Given the description of an element on the screen output the (x, y) to click on. 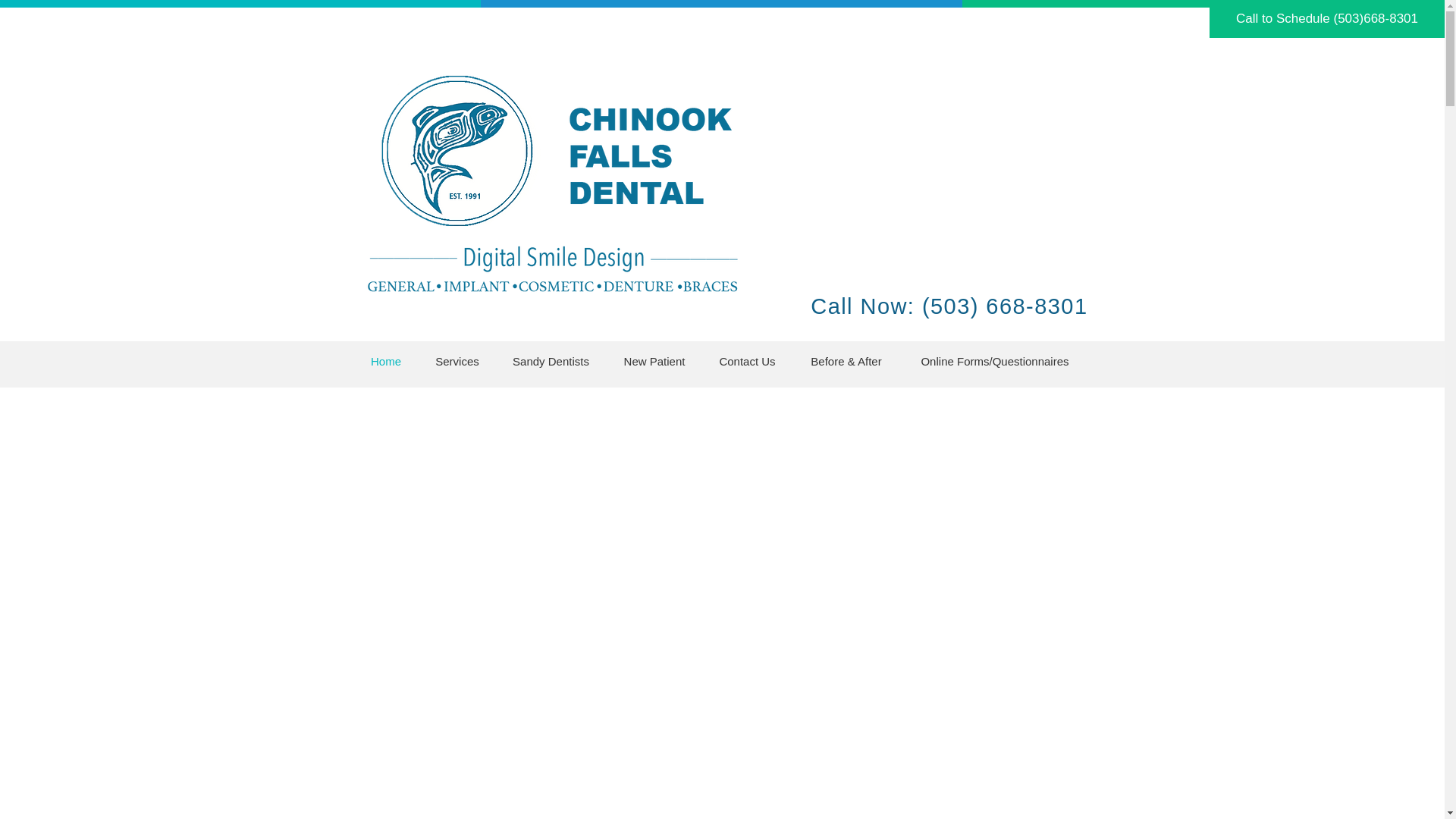
Contact Us (746, 361)
Home (386, 361)
Sandy Dentists (551, 361)
Services (457, 361)
New Patient (655, 361)
